Given the description of an element on the screen output the (x, y) to click on. 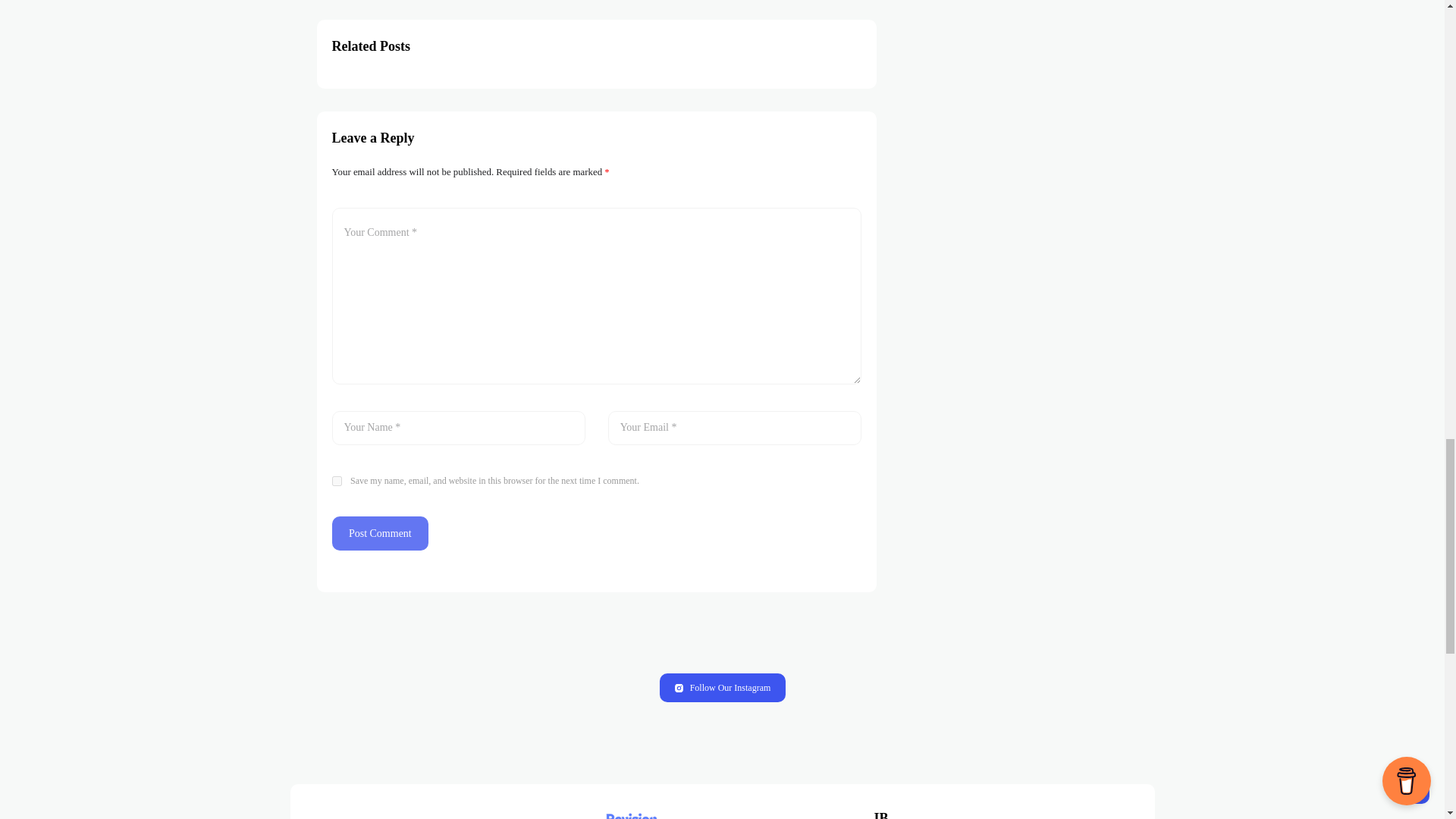
yes (336, 480)
Post Comment (380, 533)
